Given the description of an element on the screen output the (x, y) to click on. 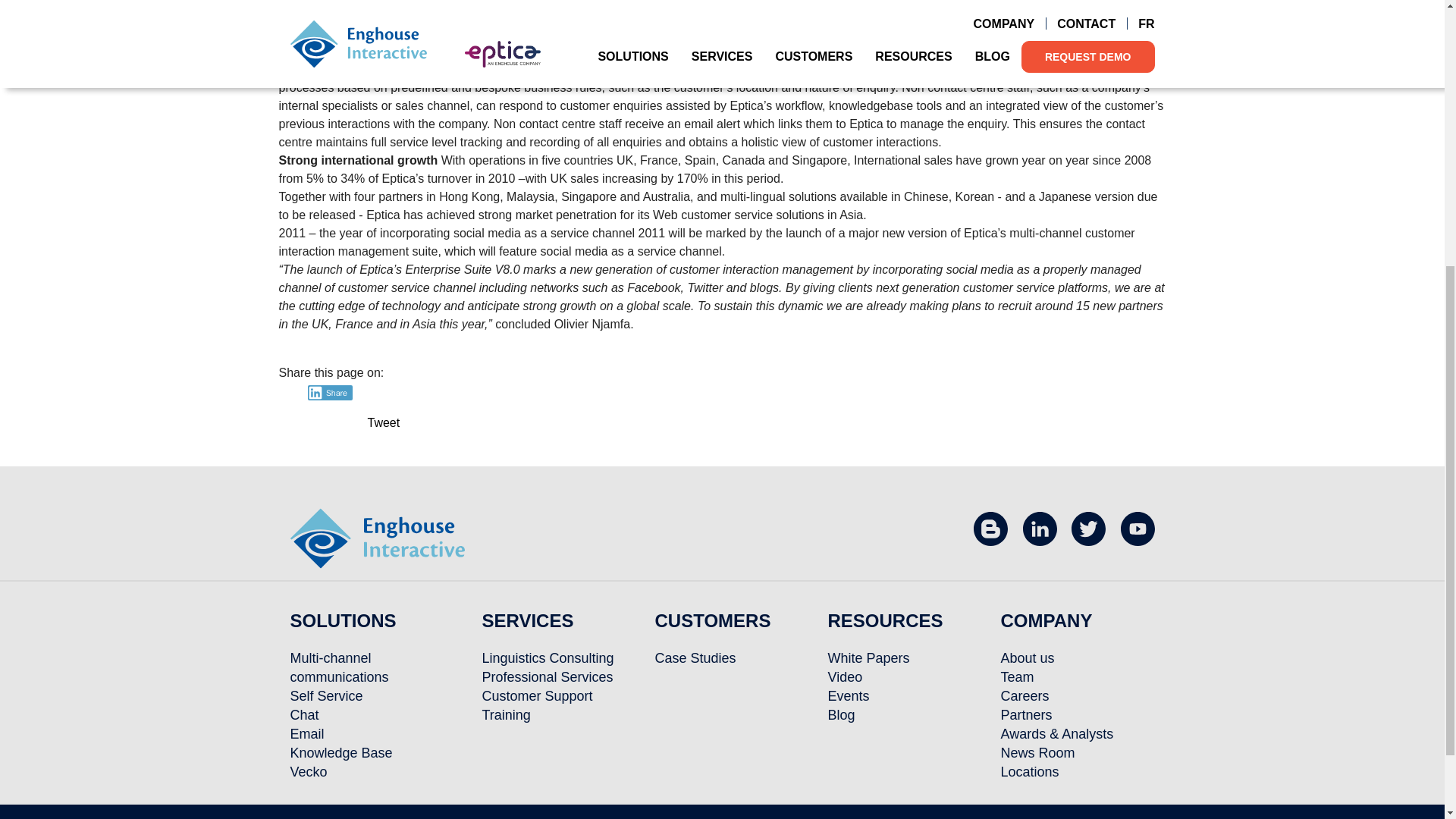
Home (376, 536)
